Given the description of an element on the screen output the (x, y) to click on. 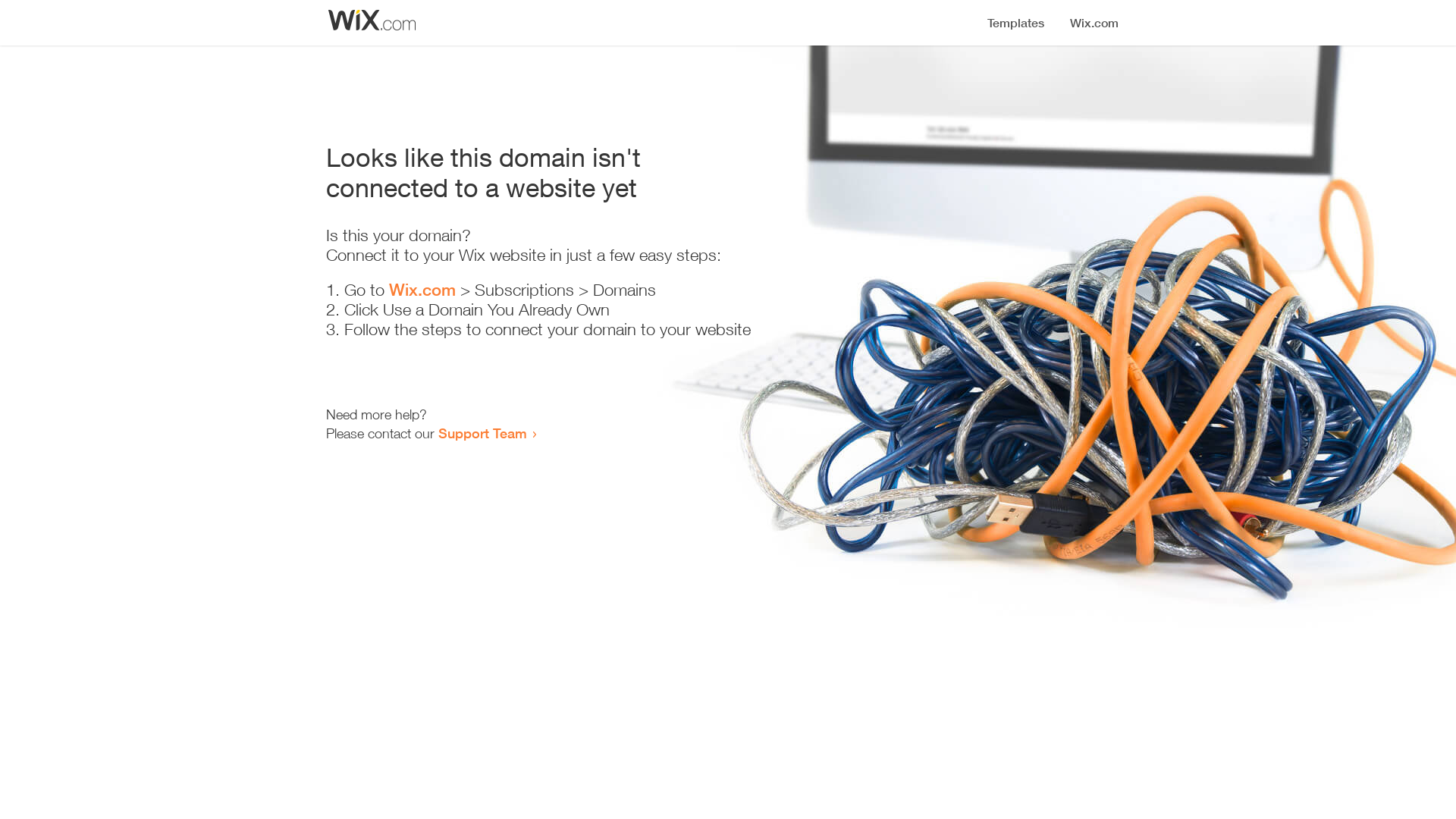
Wix.com Element type: text (422, 289)
Support Team Element type: text (482, 432)
